Given the description of an element on the screen output the (x, y) to click on. 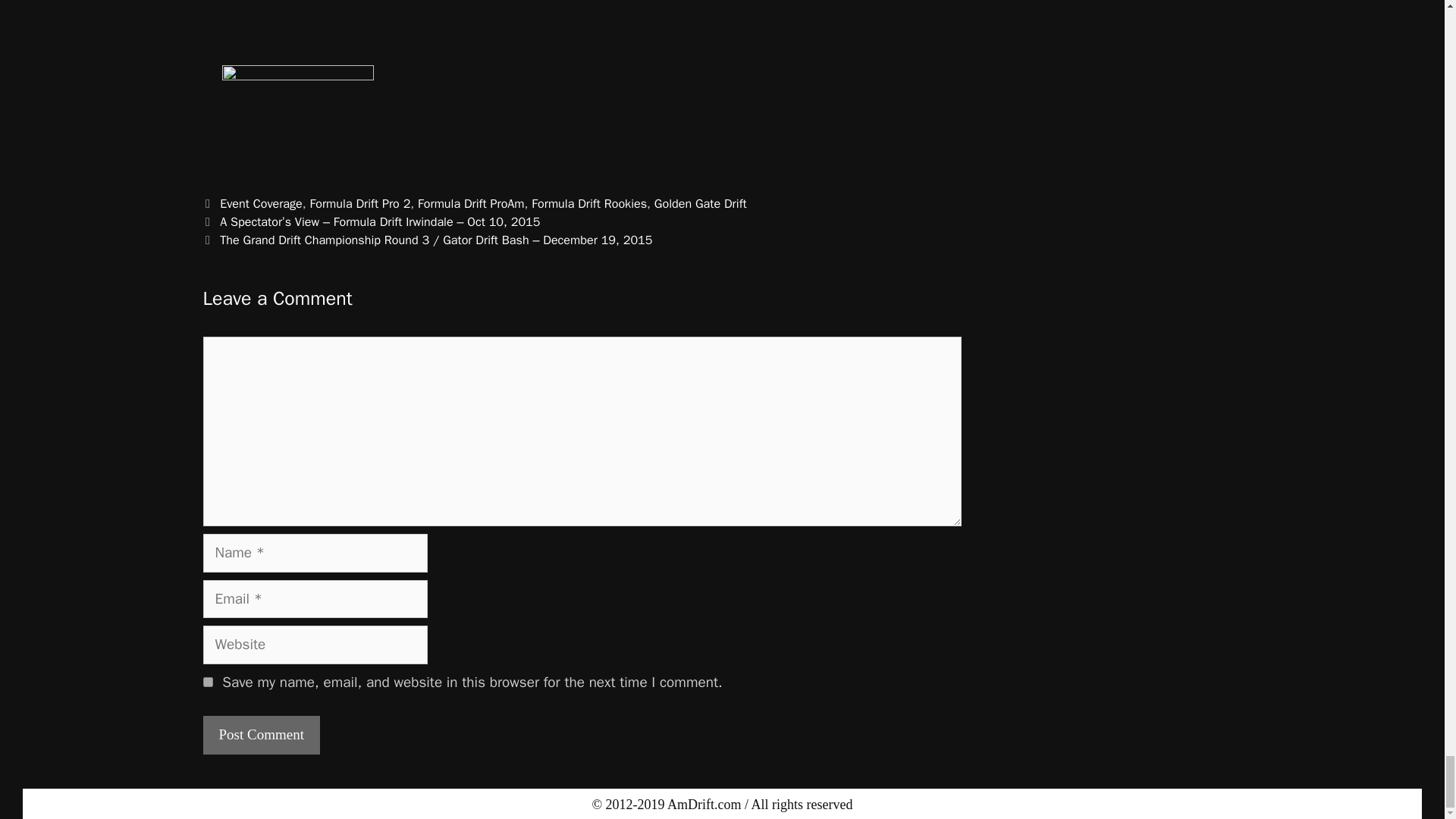
Previous (371, 221)
Next (427, 239)
Post Comment (261, 734)
yes (207, 682)
